Given the description of an element on the screen output the (x, y) to click on. 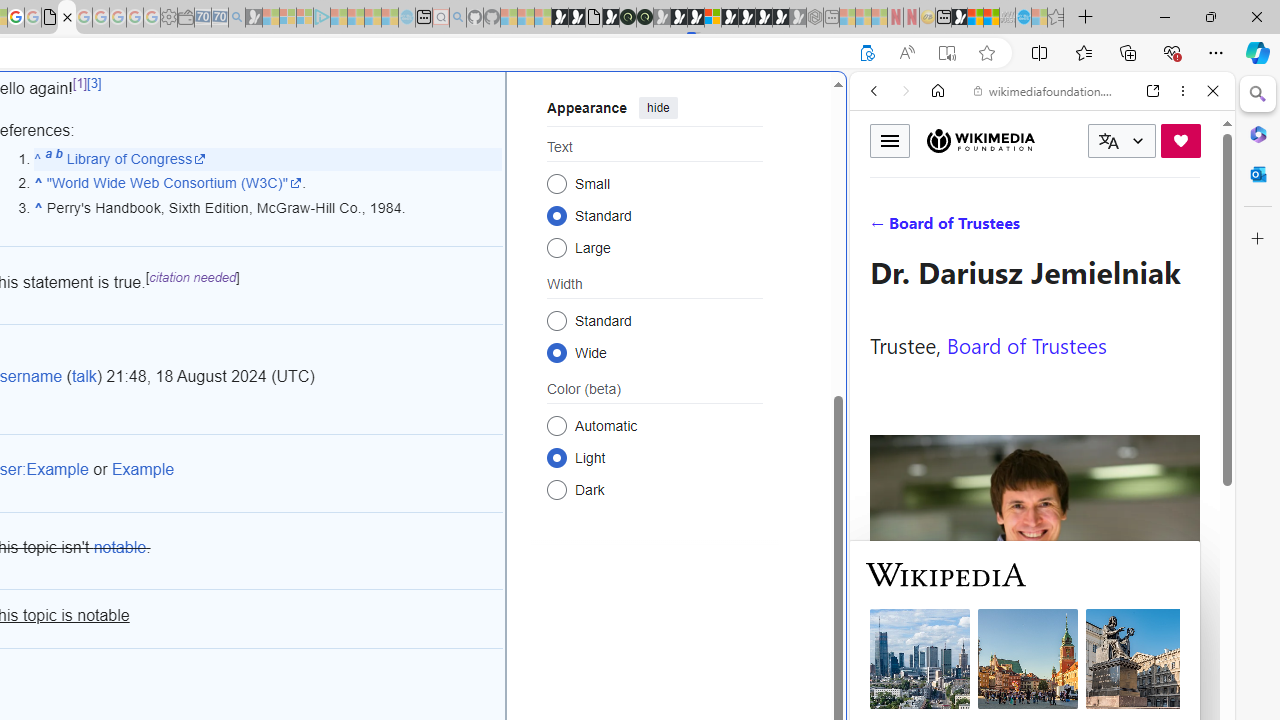
Search or enter web address (343, 191)
Jump back up (38, 158)
